Given the description of an element on the screen output the (x, y) to click on. 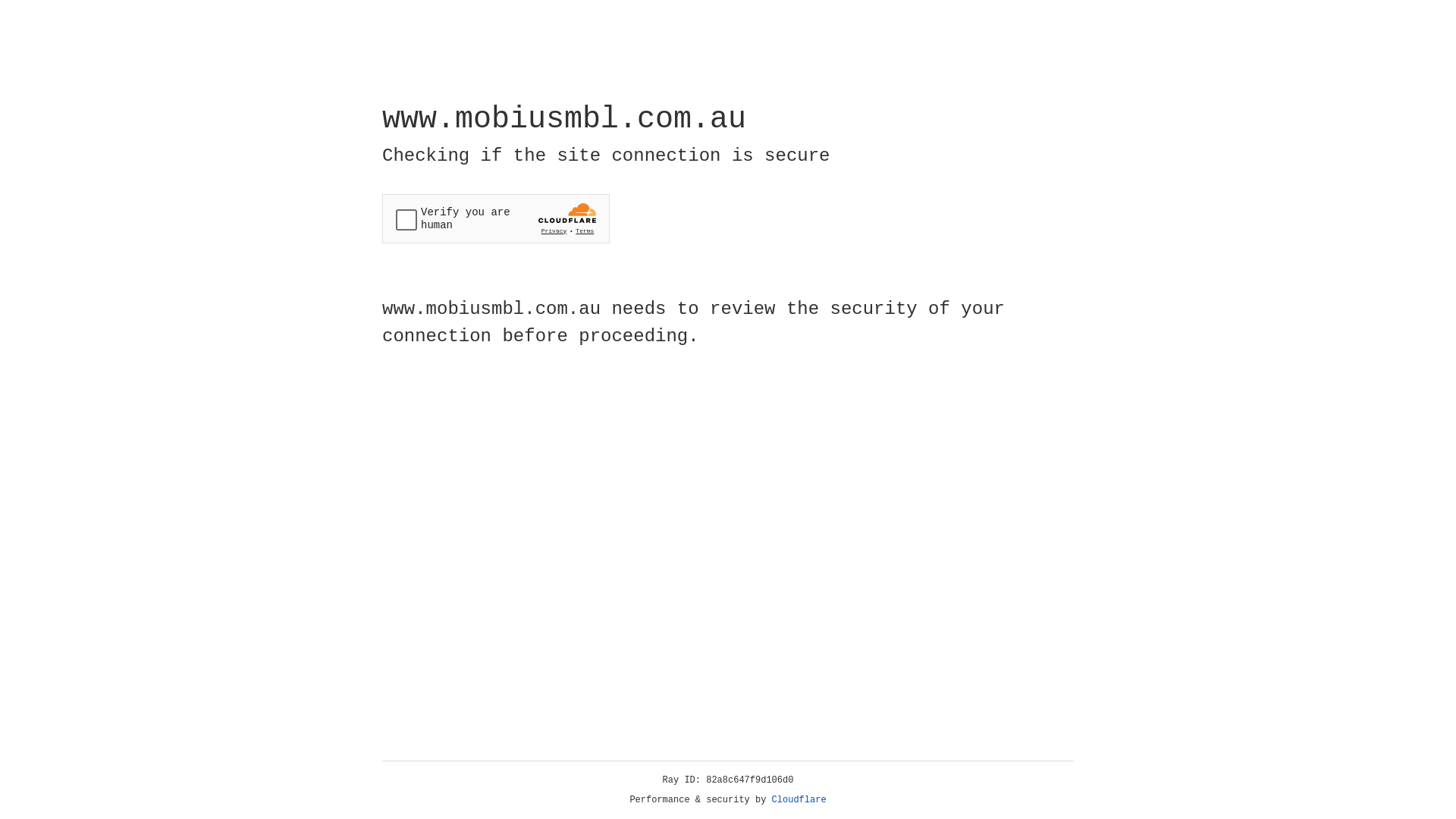
Cloudflare Element type: text (798, 799)
Widget containing a Cloudflare security challenge Element type: hover (495, 218)
